Given the description of an element on the screen output the (x, y) to click on. 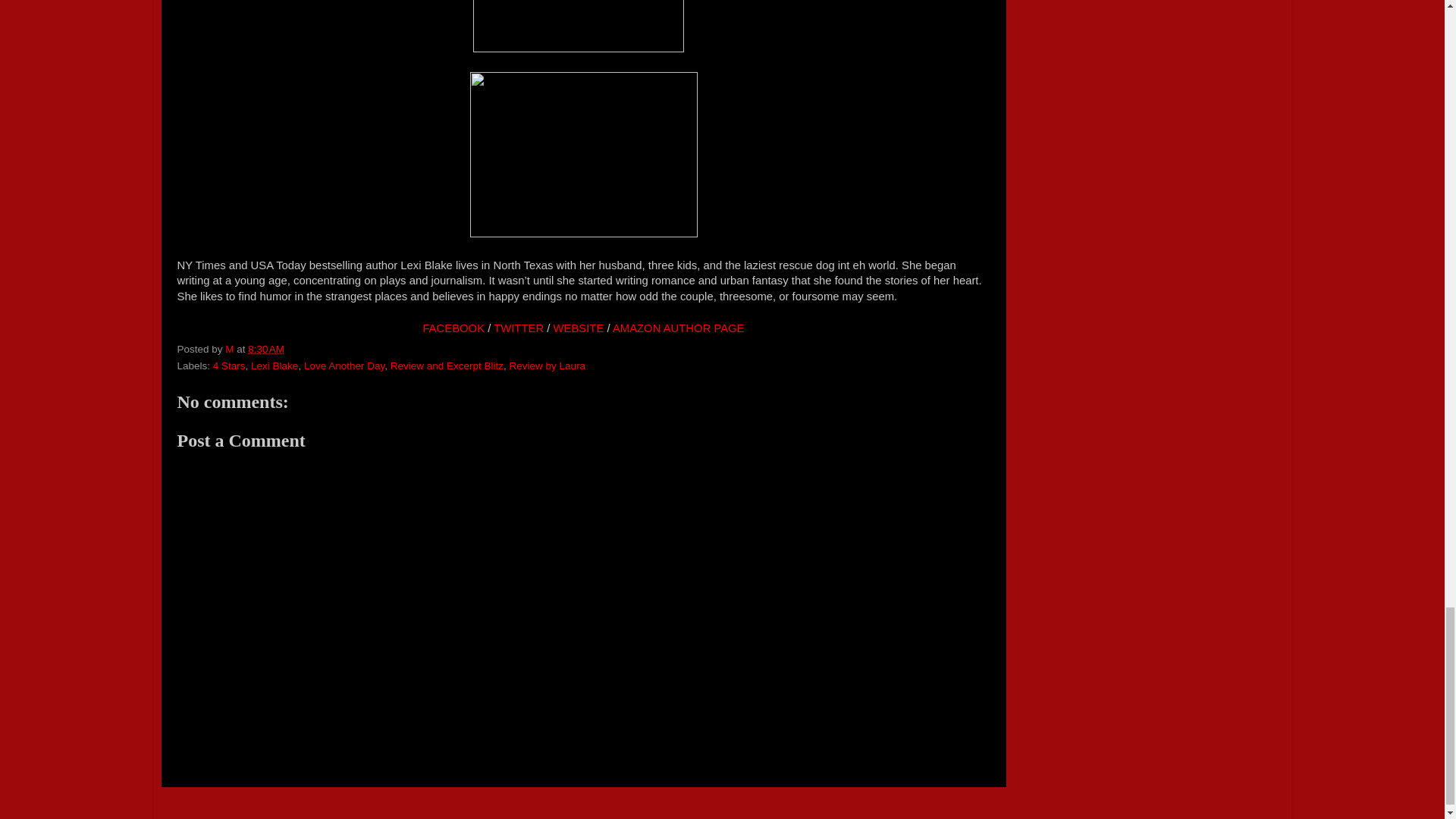
Review by Laura (547, 365)
Review and Excerpt Blitz (446, 365)
author profile (230, 348)
WEBSITE (578, 328)
Love Another Day (344, 365)
permanent link (265, 348)
M (230, 348)
TWITTER (518, 328)
FACEBOOK (453, 328)
AMAZON AUTHOR PAGE (678, 328)
4 Stars (229, 365)
Lexi Blake (274, 365)
